Given the description of an element on the screen output the (x, y) to click on. 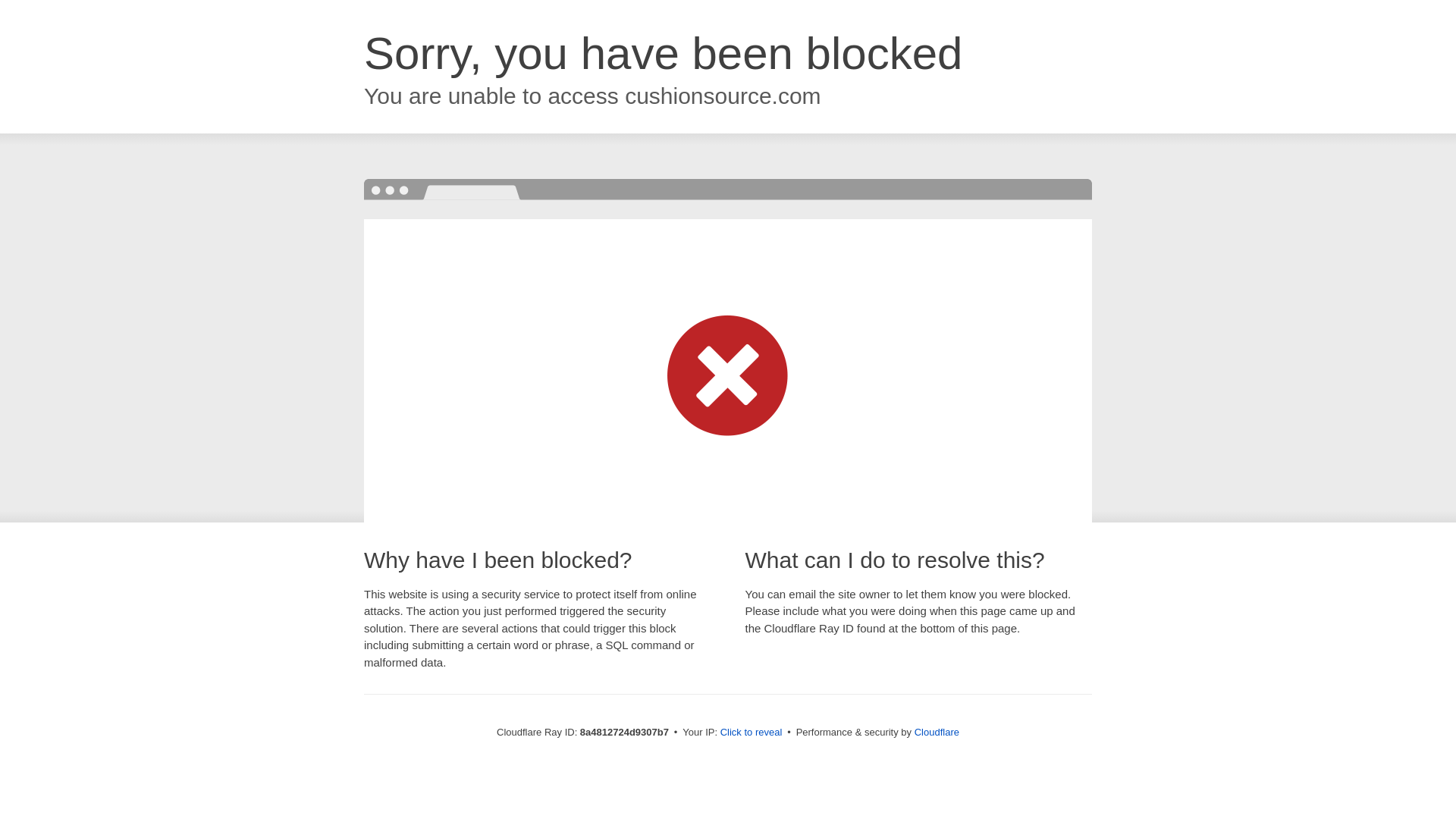
Cloudflare (936, 731)
Click to reveal (751, 732)
